Given the description of an element on the screen output the (x, y) to click on. 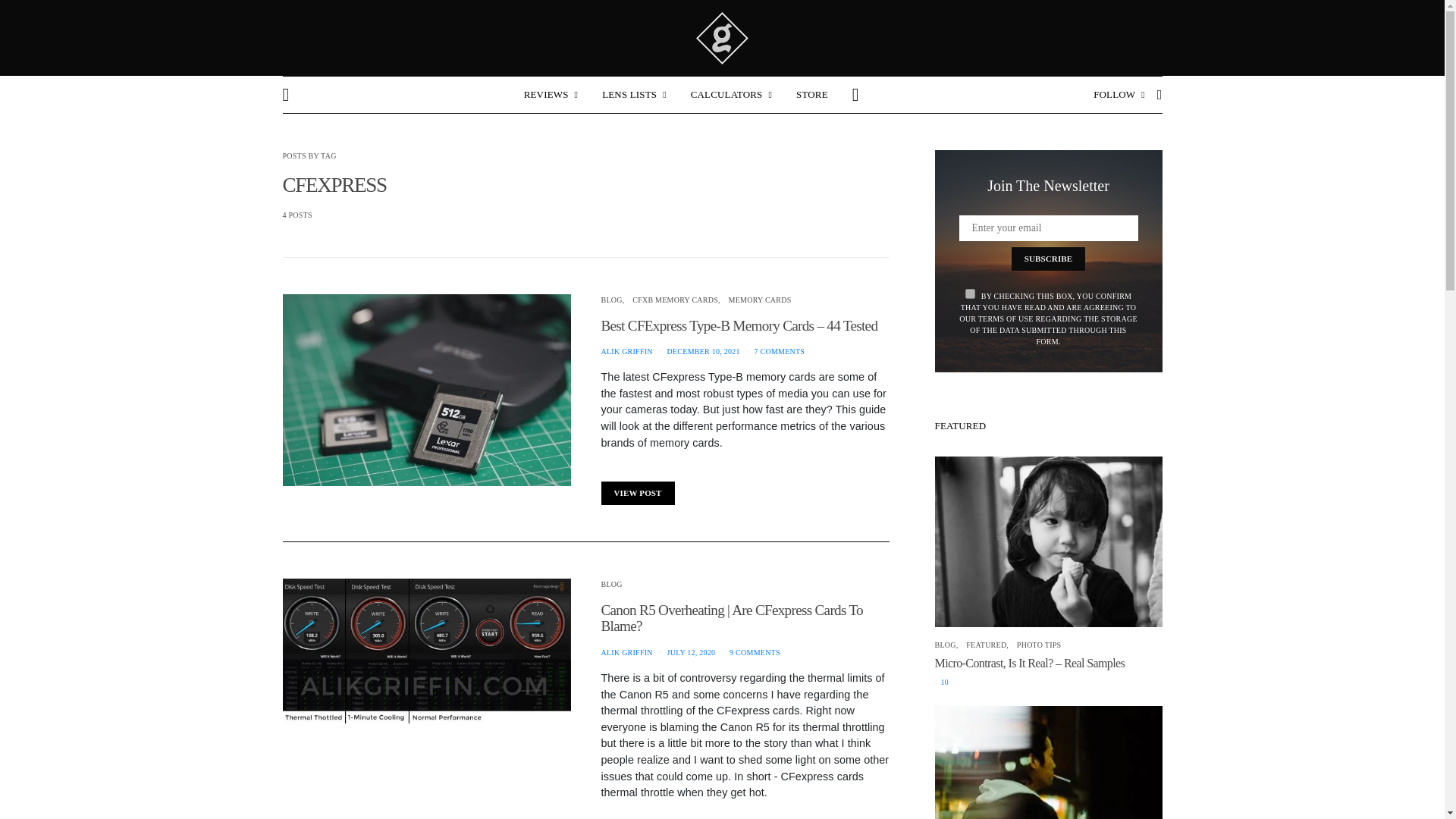
View all posts by Alik Griffin (625, 351)
View all posts by Alik Griffin (625, 652)
on (970, 293)
